Given the description of an element on the screen output the (x, y) to click on. 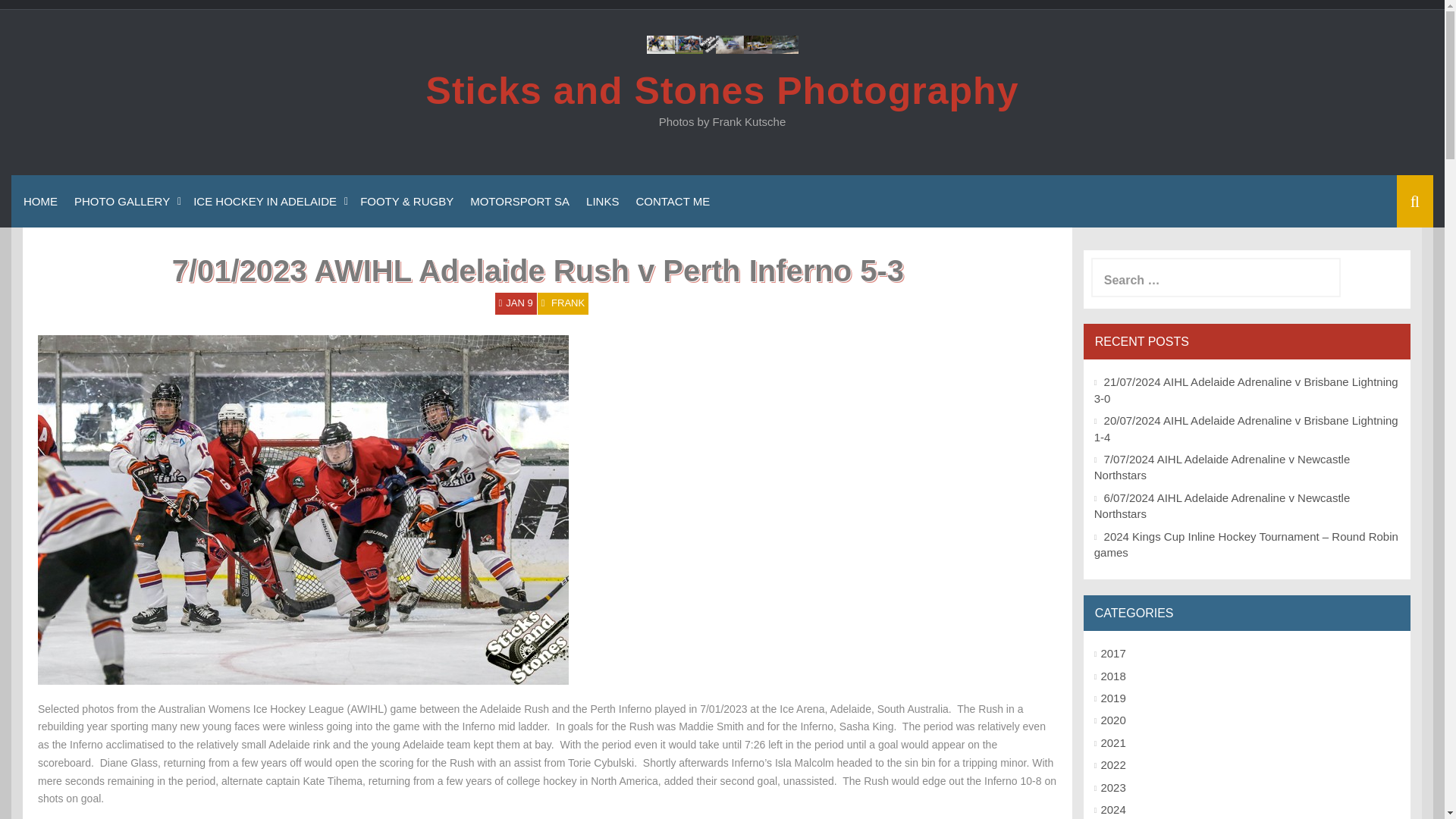
ICE HOCKEY IN ADELAIDE (268, 200)
Sticks and Stones Photography (722, 90)
HOME (39, 200)
MOTORSPORT SA (519, 200)
PHOTO GALLERY (124, 200)
LINKS (602, 200)
